Given the description of an element on the screen output the (x, y) to click on. 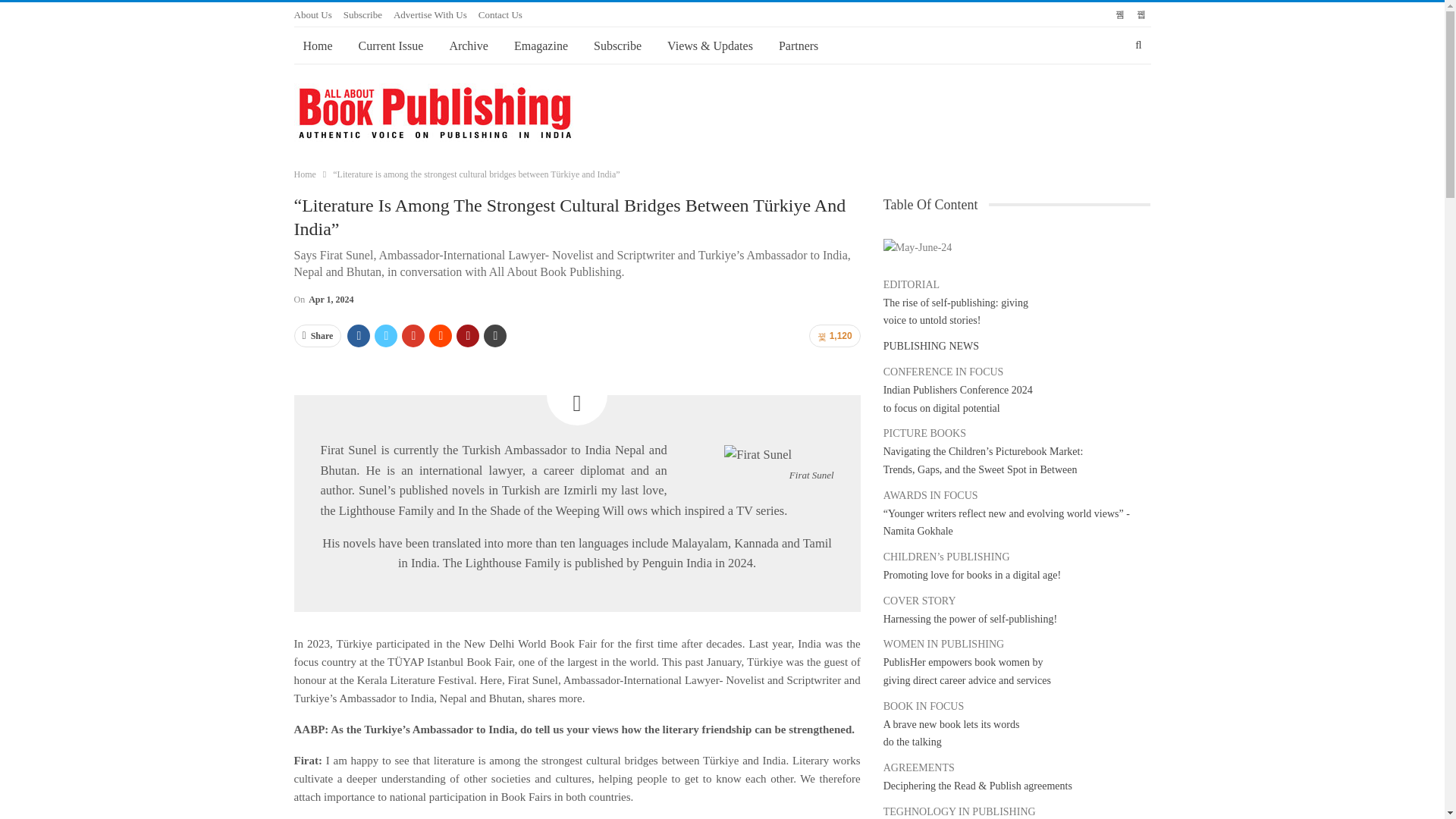
Contact Us (500, 14)
Home (318, 45)
About Us (312, 14)
Archive (468, 45)
Current Issue (390, 45)
Subscribe (617, 45)
Advertise With Us (430, 14)
Emagazine (540, 45)
Partners (798, 45)
Subscribe (362, 14)
